Given the description of an element on the screen output the (x, y) to click on. 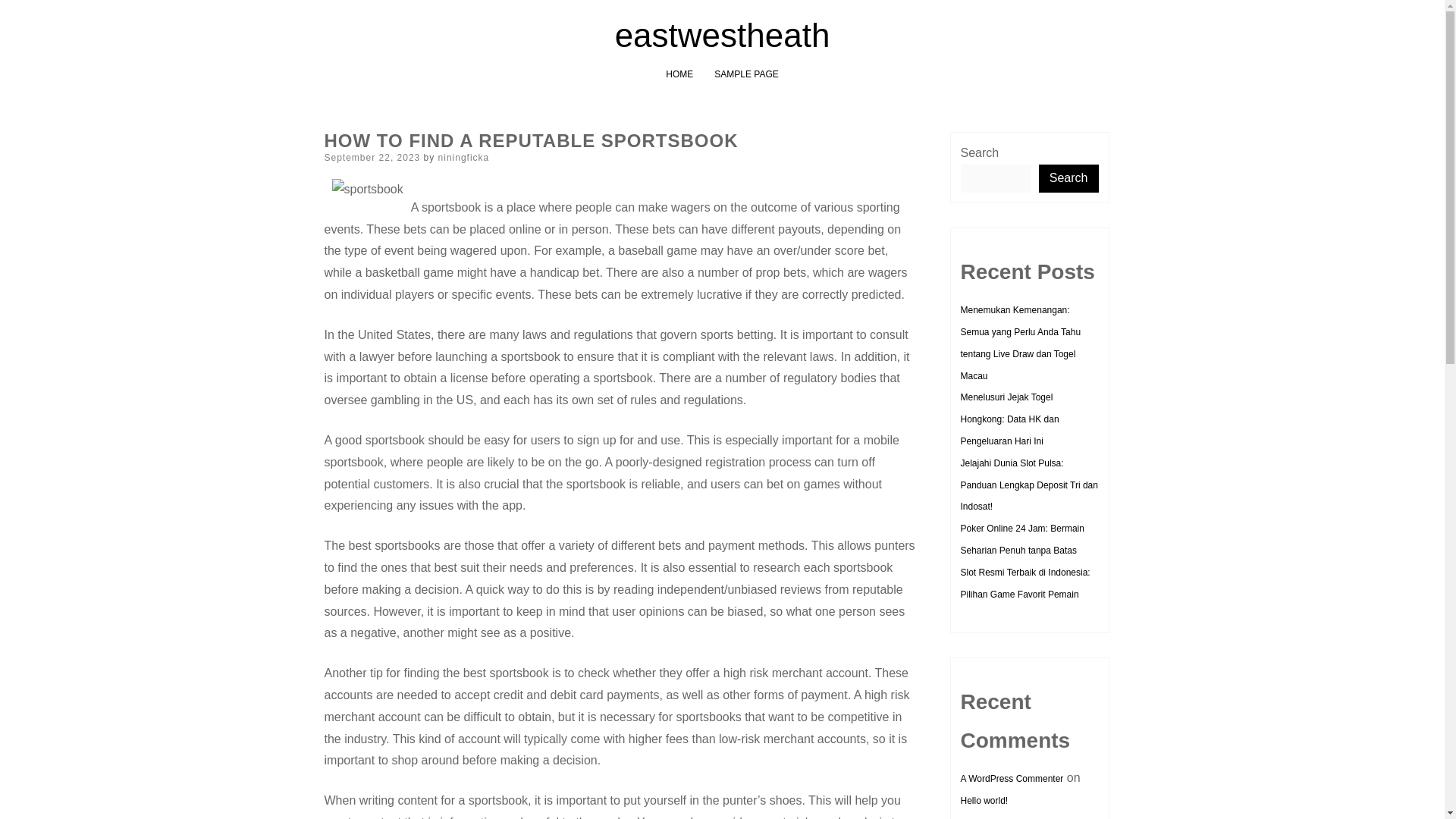
SAMPLE PAGE (745, 73)
eastwestheath (721, 35)
Hello world! (983, 800)
Search (1069, 178)
A WordPress Commenter (1010, 778)
September 22, 2023 (372, 157)
Slot Resmi Terbaik di Indonesia: Pilihan Game Favorit Pemain (1024, 583)
Poker Online 24 Jam: Bermain Seharian Penuh tanpa Batas (1021, 539)
niningficka (463, 157)
HOME (679, 73)
